Given the description of an element on the screen output the (x, y) to click on. 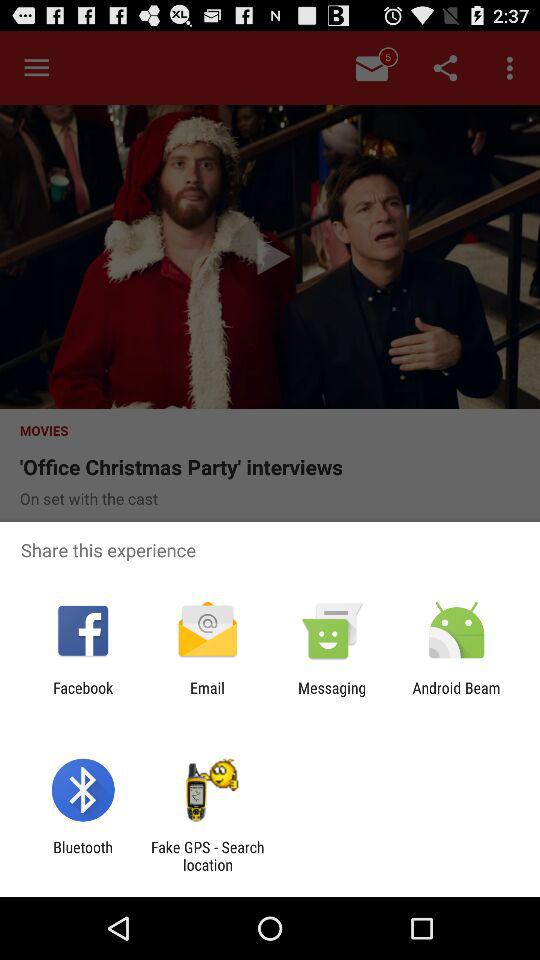
scroll to the facebook item (83, 696)
